Given the description of an element on the screen output the (x, y) to click on. 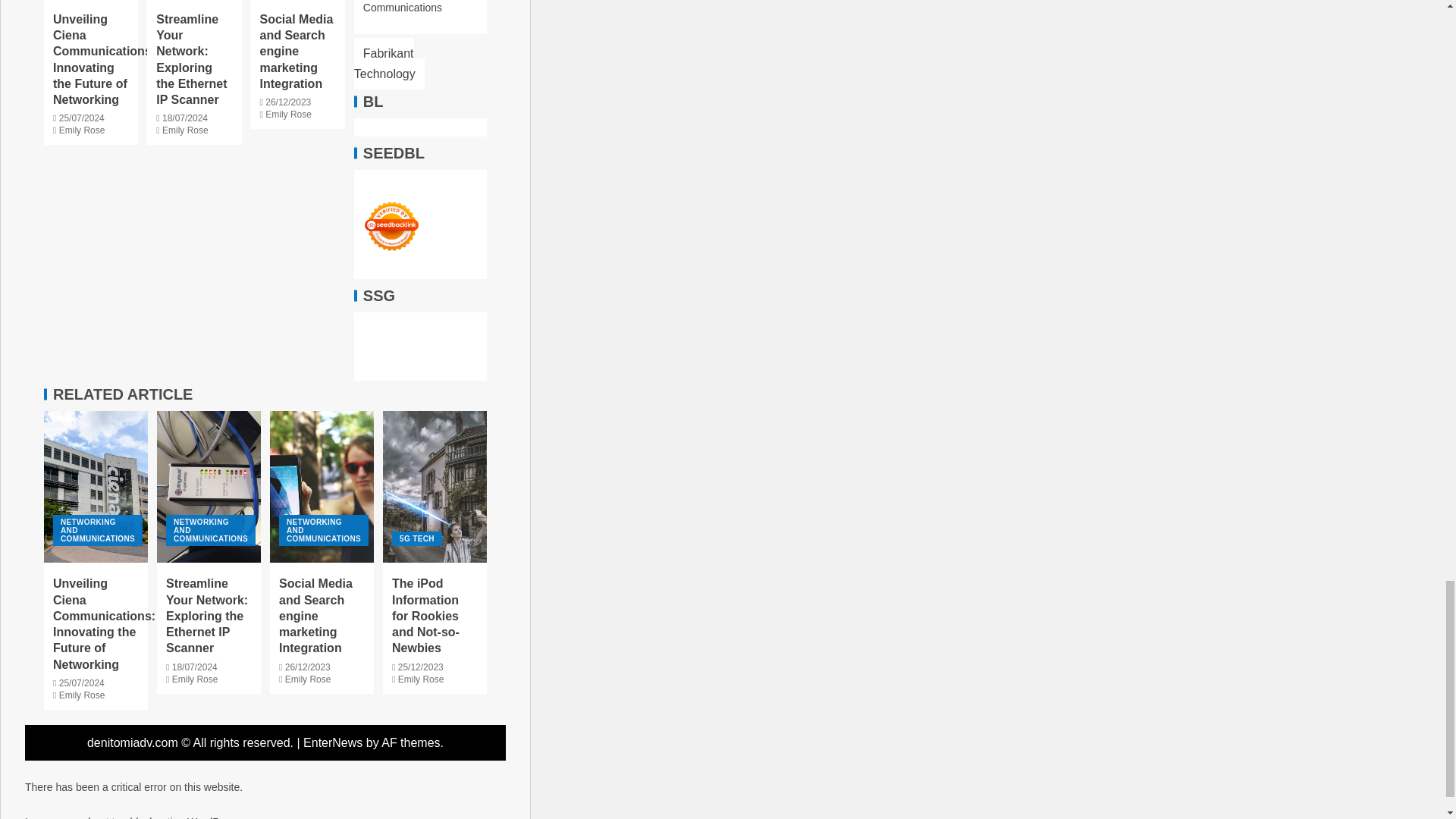
Emily Rose (81, 130)
Social Media and Search engine marketing Integration (296, 51)
Seedbacklink (391, 226)
Emily Rose (184, 130)
Emily Rose (287, 113)
